Given the description of an element on the screen output the (x, y) to click on. 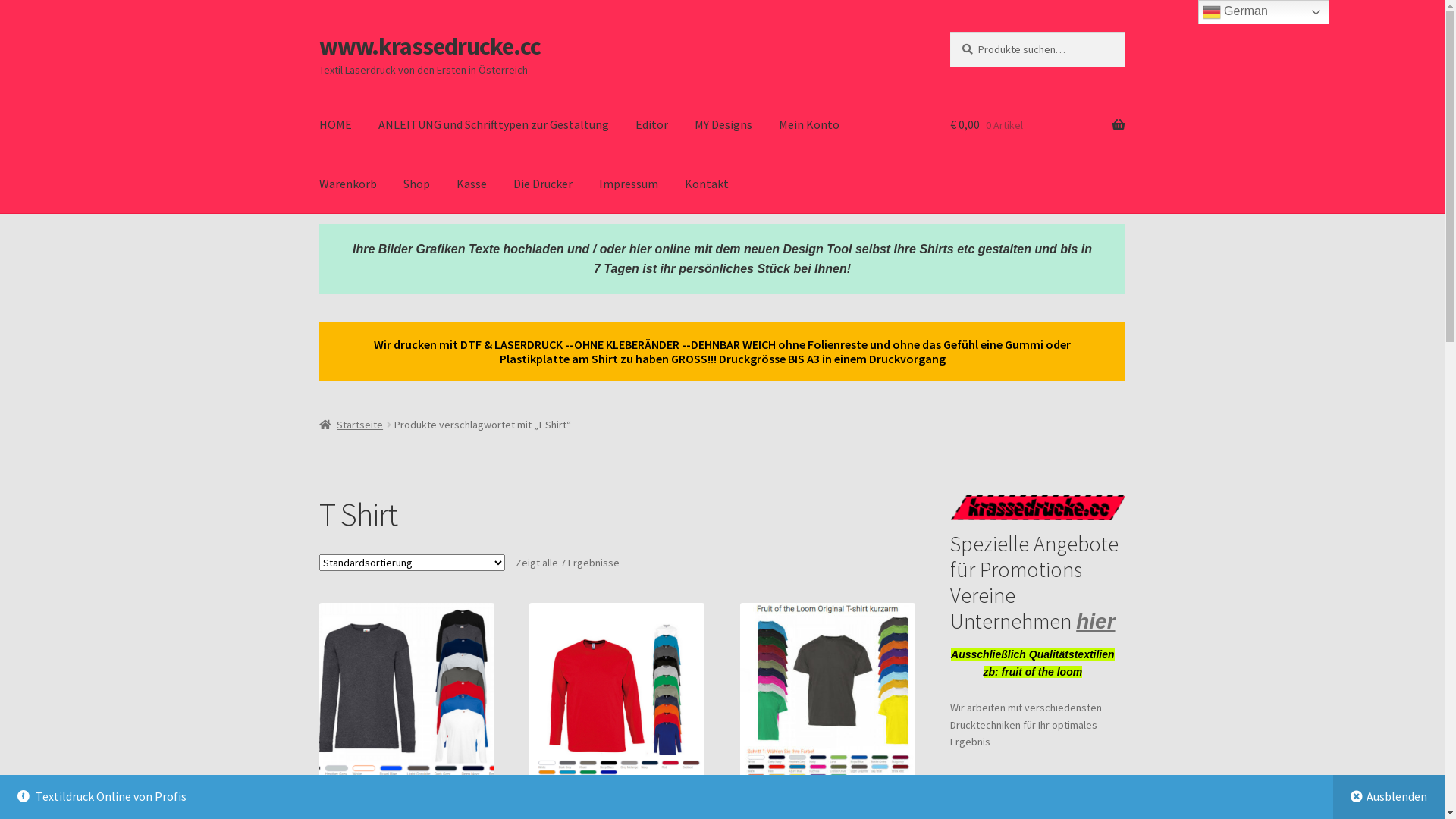
Suche Element type: text (949, 31)
Shop Element type: text (416, 183)
Kontakt Element type: text (706, 183)
Kasse Element type: text (471, 183)
Editor Element type: text (651, 124)
Impressum Element type: text (628, 183)
Zur Navigation springen Element type: text (318, 31)
ANLEITUNG und Schrifttypen zur Gestaltung Element type: text (493, 124)
Startseite Element type: text (351, 424)
German Element type: text (1263, 12)
hier Element type: text (1095, 621)
HOME Element type: text (335, 124)
Die Drucker Element type: text (542, 183)
Mein Konto Element type: text (808, 124)
Warenkorb Element type: text (348, 183)
www.krassedrucke.cc Element type: text (429, 46)
MY Designs Element type: text (723, 124)
